Given the description of an element on the screen output the (x, y) to click on. 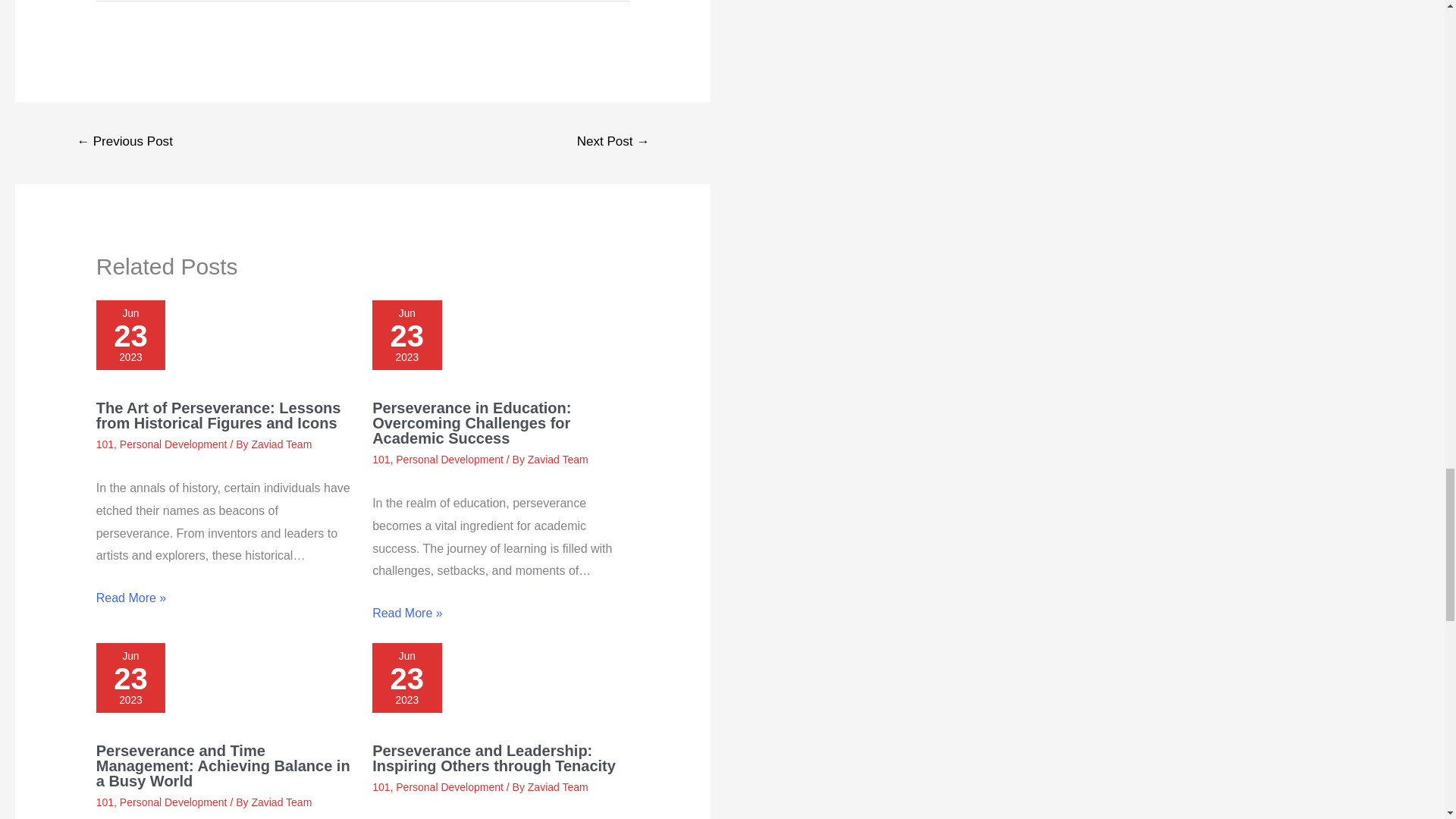
View all posts by Zaviad Team (557, 787)
View all posts by Zaviad Team (280, 444)
View all posts by Zaviad Team (557, 459)
View all posts by Zaviad Team (280, 802)
